Given the description of an element on the screen output the (x, y) to click on. 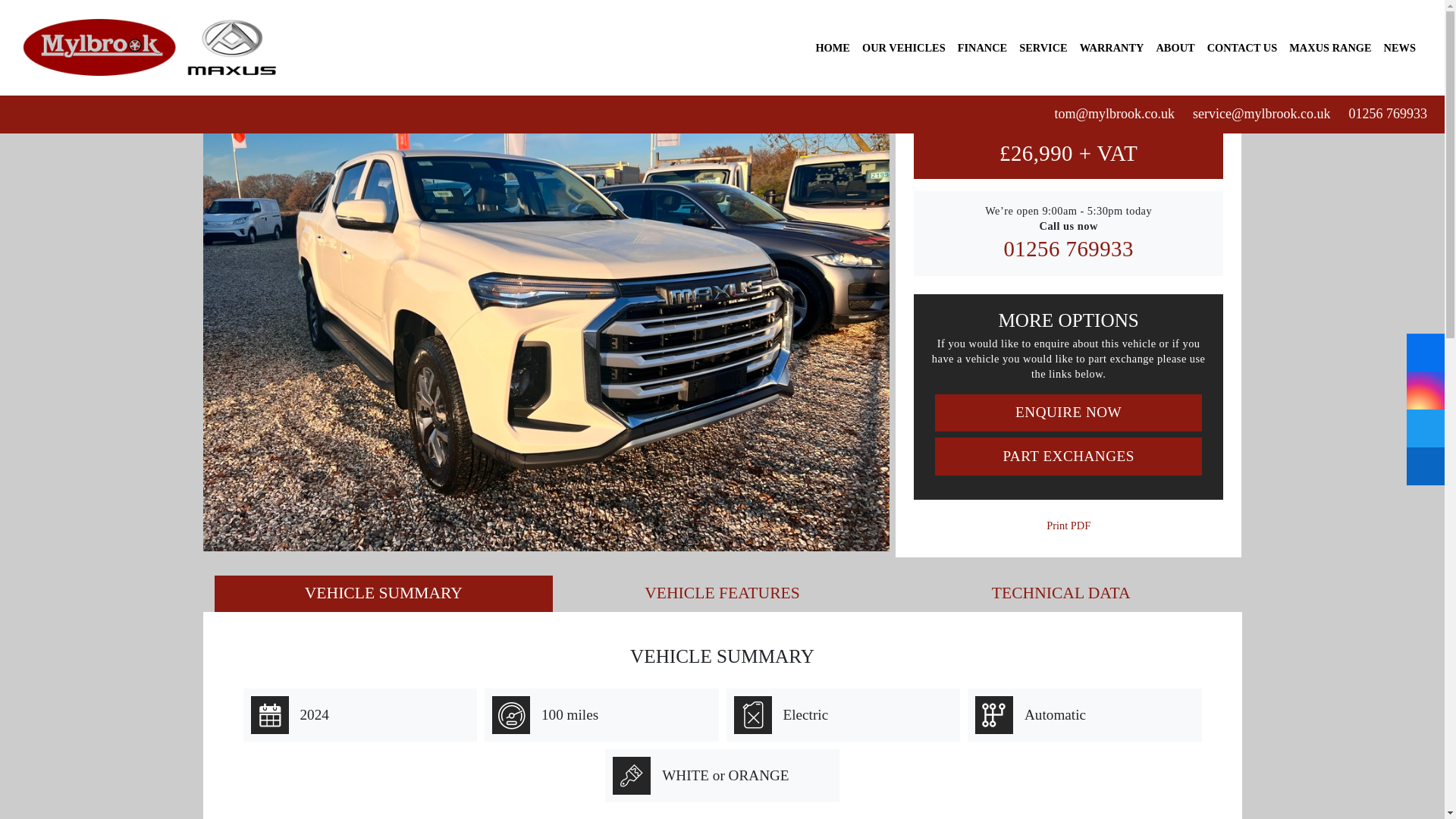
FINANCE (982, 47)
MAXUS RANGE (1329, 47)
NEWS (1399, 47)
SERVICE (1043, 47)
OUR VEHICLES (904, 47)
HOME (832, 47)
MAXUS T90 88.5kWh Elite Auto RWD 4dr PRE-REG (546, 292)
ABOUT (1174, 47)
Mylbrook Logo (152, 47)
CONTACT US (1242, 47)
WARRANTY (1112, 47)
01256 769933 (1384, 113)
